Given the description of an element on the screen output the (x, y) to click on. 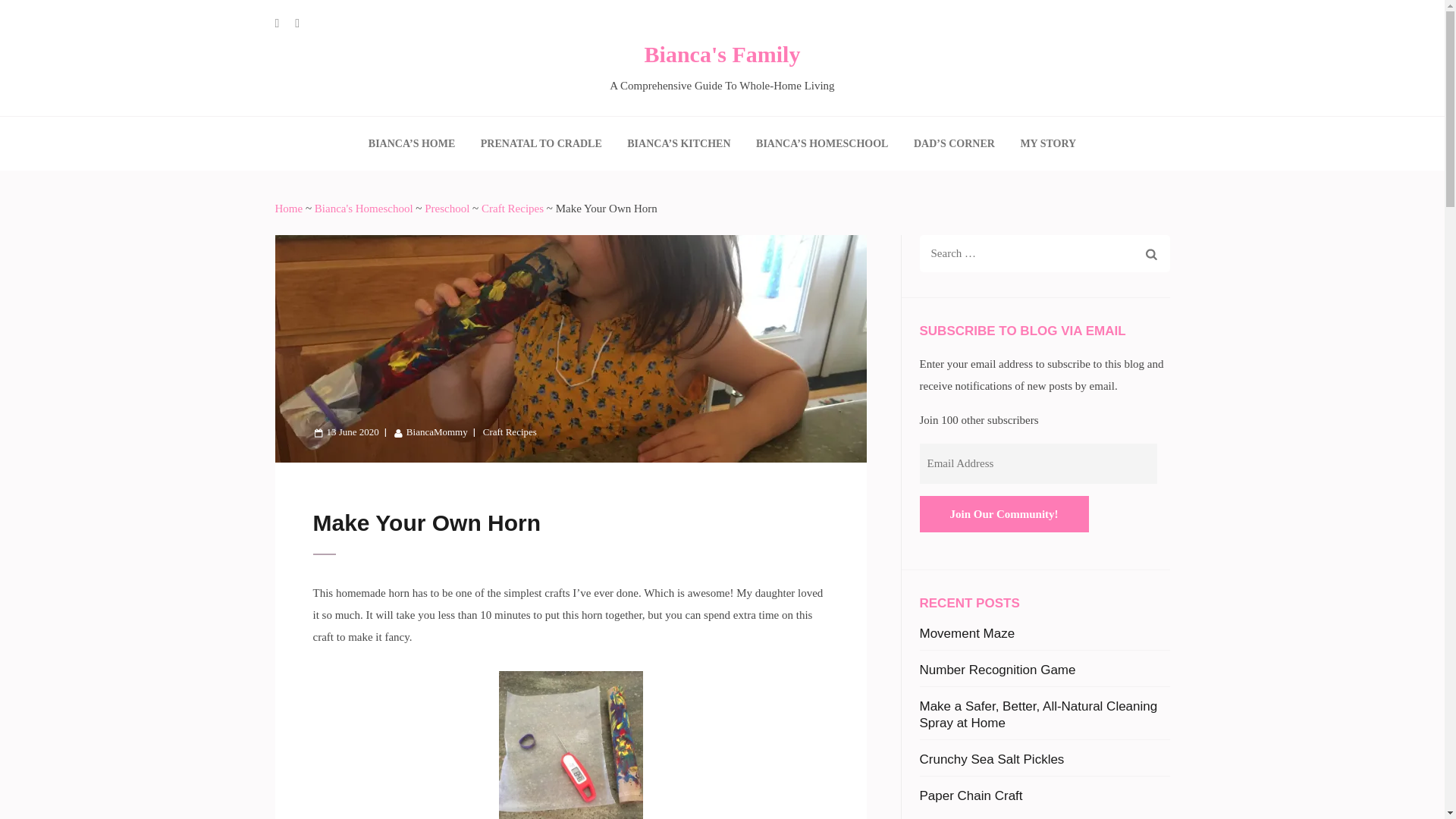
Craft Recipes (512, 208)
PRENATAL TO CRADLE (541, 143)
BiancaMommy (430, 431)
Craft Recipes (510, 431)
Preschool (446, 208)
Search (1150, 255)
Bianca's Family (722, 54)
Search (1150, 255)
Home (288, 208)
13 June 2020 (346, 431)
